Given the description of an element on the screen output the (x, y) to click on. 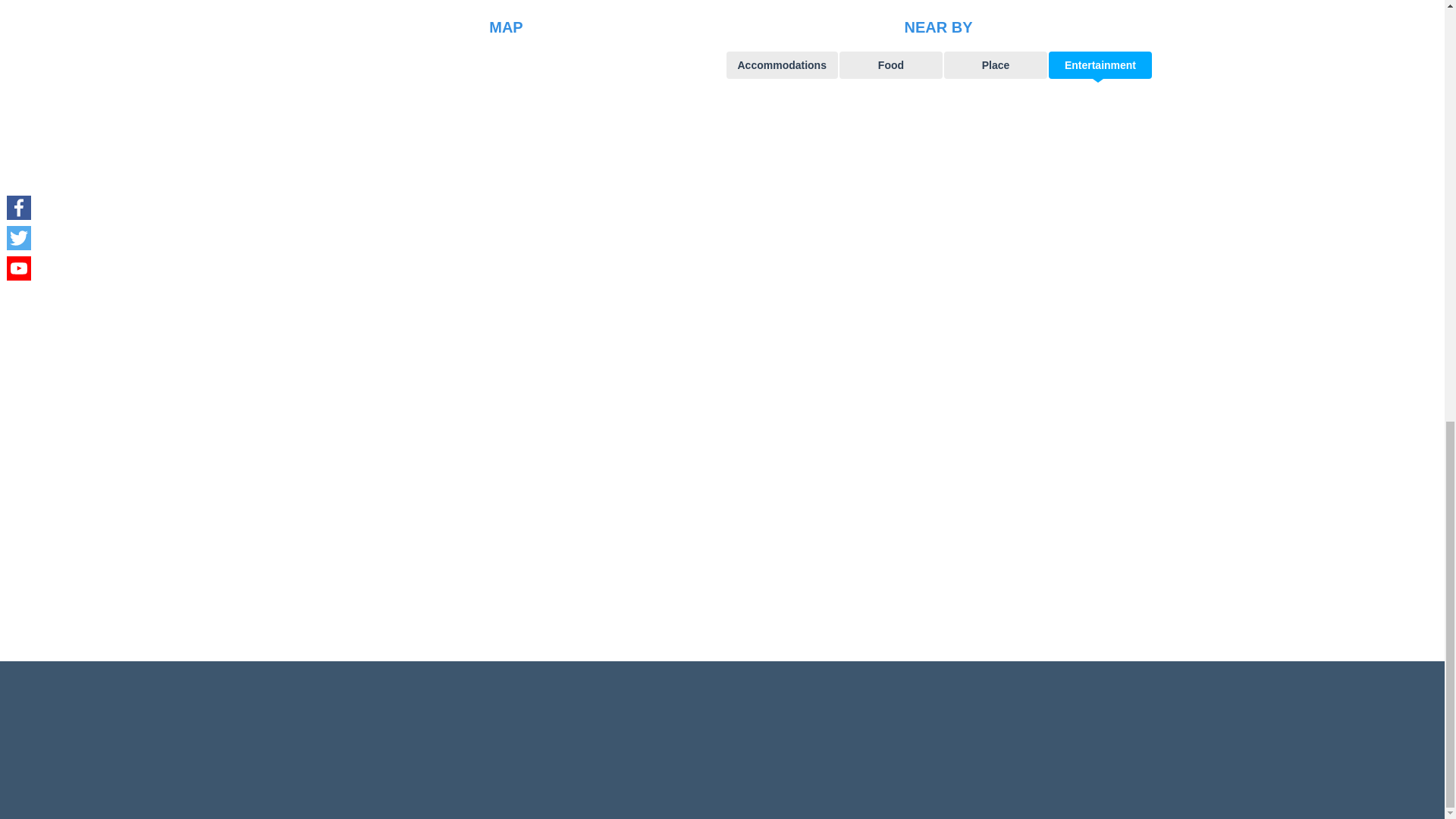
Entertainment (1099, 64)
Place (994, 64)
Accommodations (782, 64)
Food (891, 64)
